Given the description of an element on the screen output the (x, y) to click on. 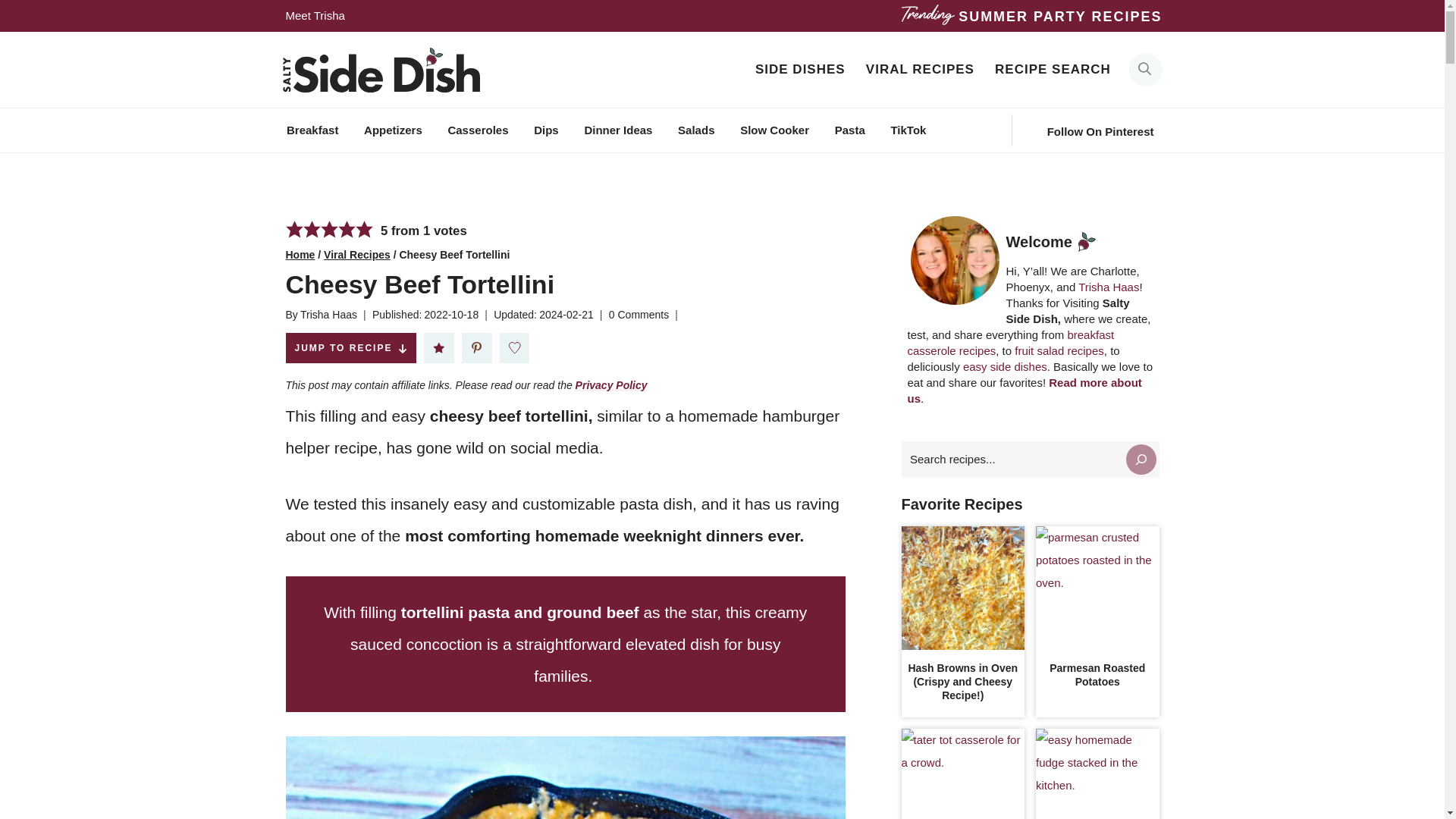
Pasta (849, 130)
Salads (695, 130)
Dips (546, 130)
Slow Cooker (774, 130)
search (1145, 69)
SUMMER PARTY RECIPES (1060, 16)
VIRAL RECIPES (920, 69)
Casseroles (477, 130)
TikTok (908, 130)
SIDE DISHES (800, 69)
